Given the description of an element on the screen output the (x, y) to click on. 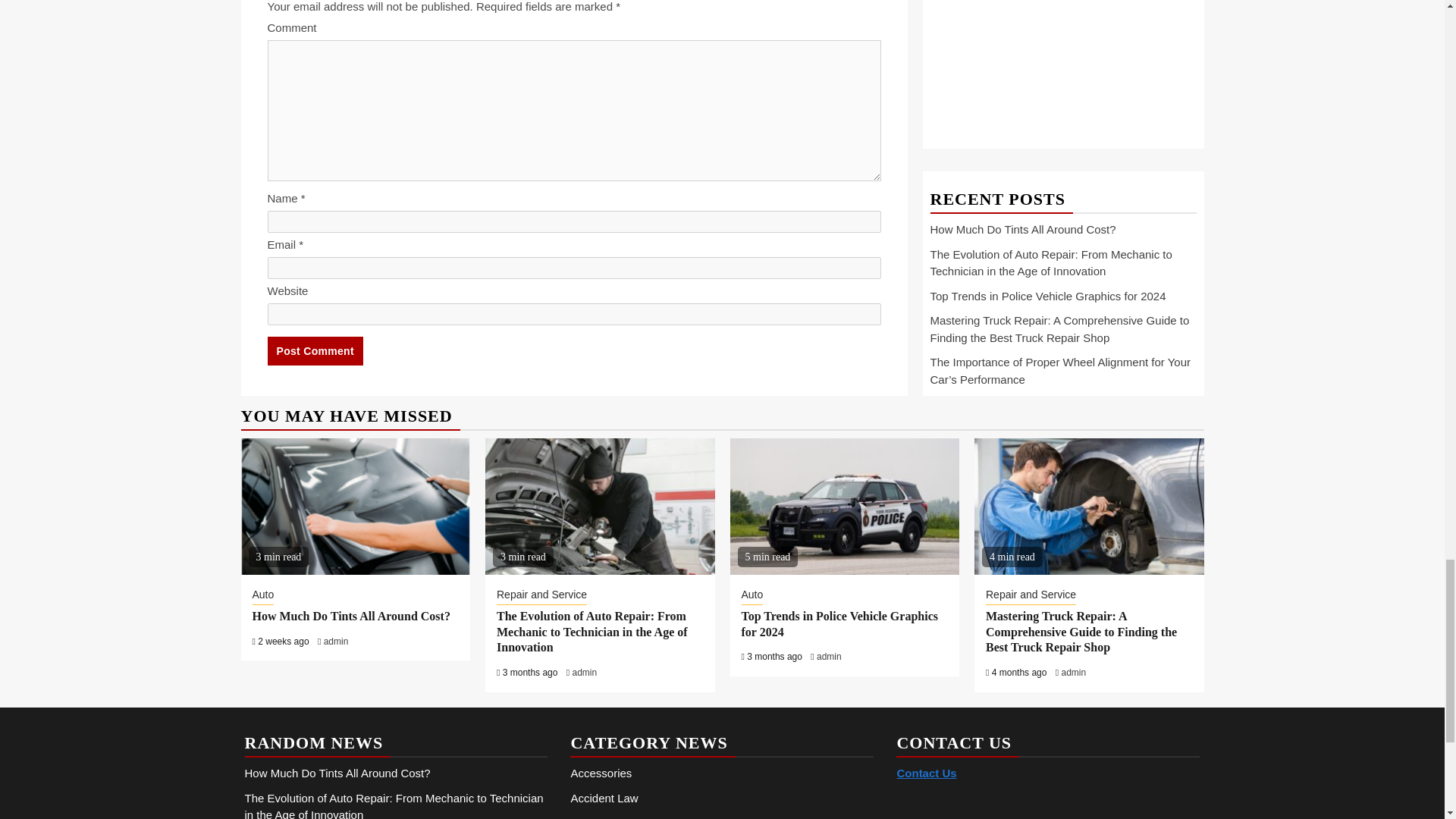
Post Comment (314, 350)
Post Comment (314, 350)
